Given the description of an element on the screen output the (x, y) to click on. 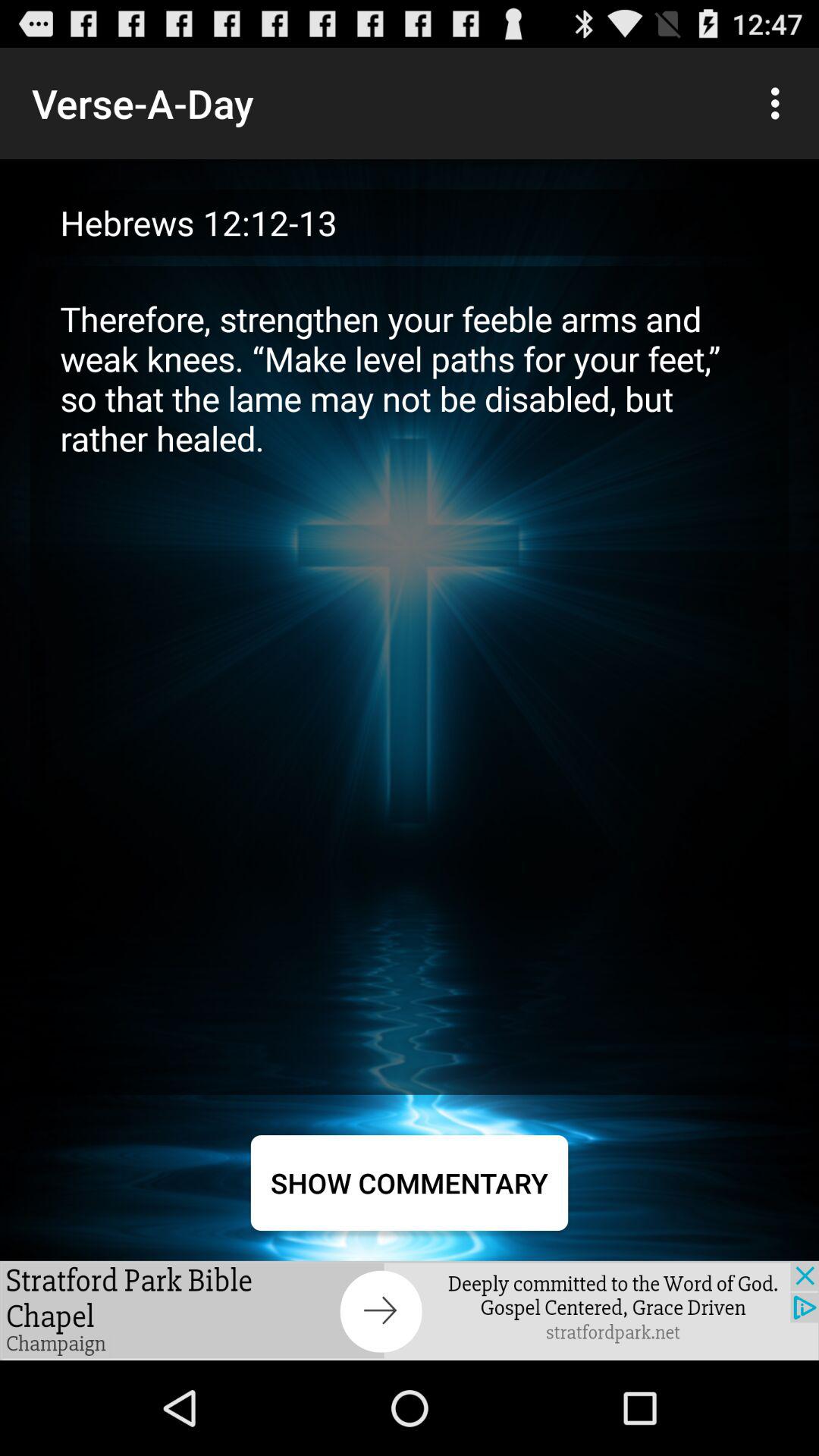
launch the therefore strengthen your at the center (409, 680)
